Given the description of an element on the screen output the (x, y) to click on. 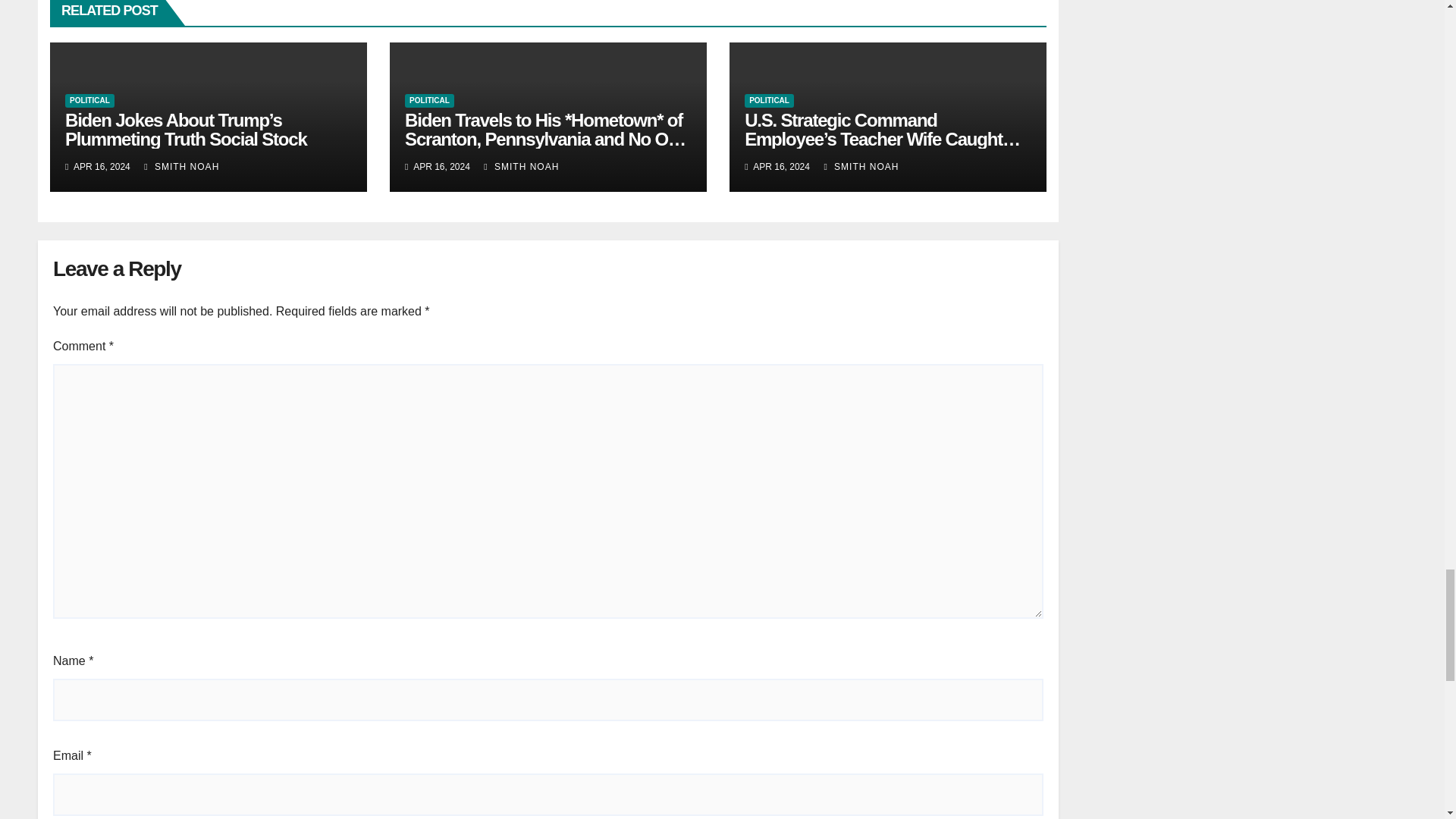
SMITH NOAH (521, 166)
POLITICAL (90, 100)
SMITH NOAH (181, 166)
POLITICAL (429, 100)
